Given the description of an element on the screen output the (x, y) to click on. 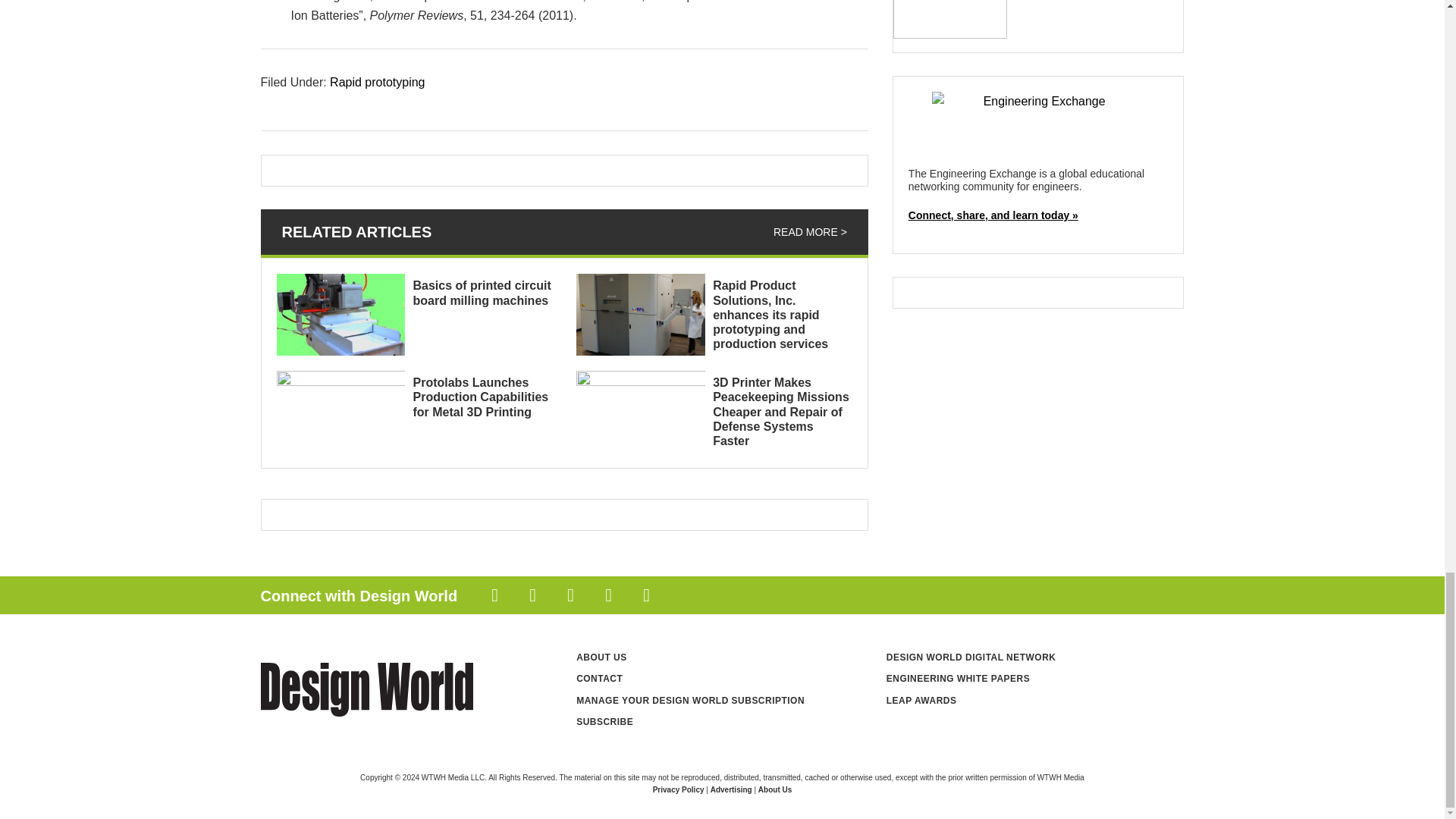
Tech Toolbox: Machine design for food automation (950, 19)
